Given the description of an element on the screen output the (x, y) to click on. 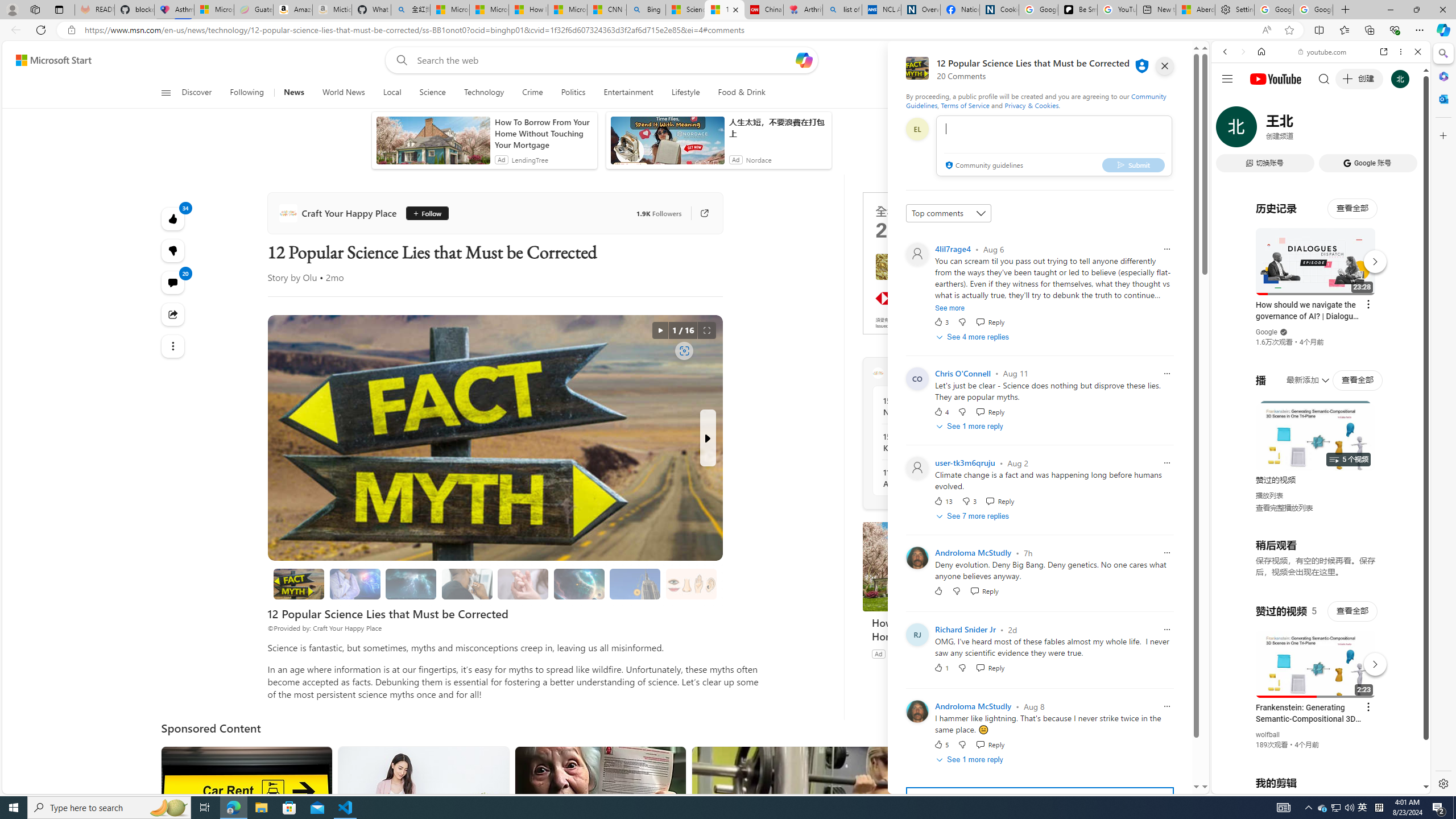
Music (1320, 309)
Class: progress (691, 581)
Knuckle Cracking and Arthritis (522, 583)
Visit Craft Your Happy Place website (1018, 372)
